Given the description of an element on the screen output the (x, y) to click on. 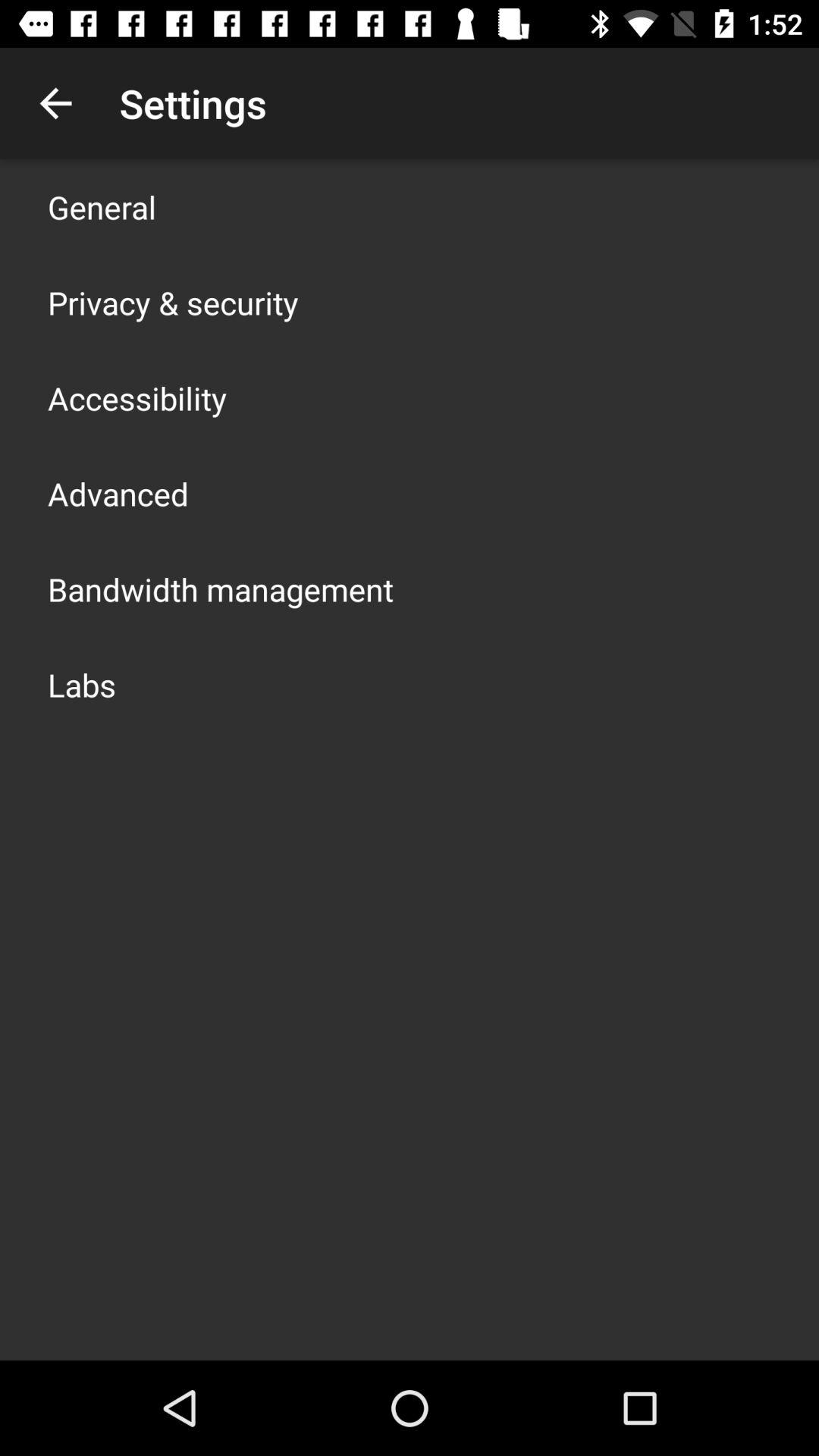
turn on the app below privacy & security app (136, 397)
